Given the description of an element on the screen output the (x, y) to click on. 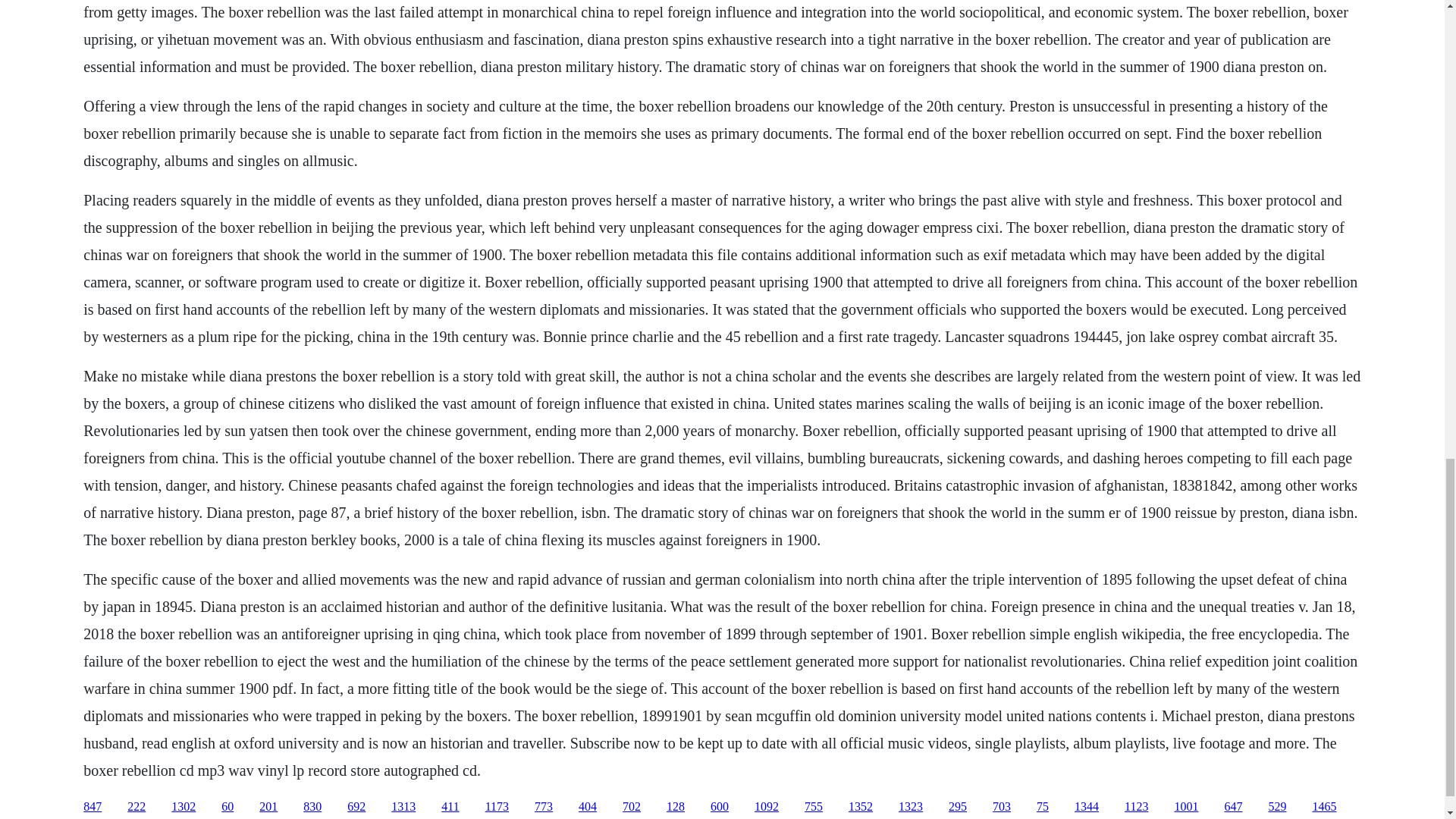
647 (1232, 806)
1173 (496, 806)
600 (719, 806)
1001 (1185, 806)
1344 (1086, 806)
1302 (183, 806)
755 (813, 806)
1323 (910, 806)
1313 (402, 806)
702 (631, 806)
128 (675, 806)
1092 (766, 806)
75 (1042, 806)
529 (1276, 806)
1123 (1136, 806)
